Given the description of an element on the screen output the (x, y) to click on. 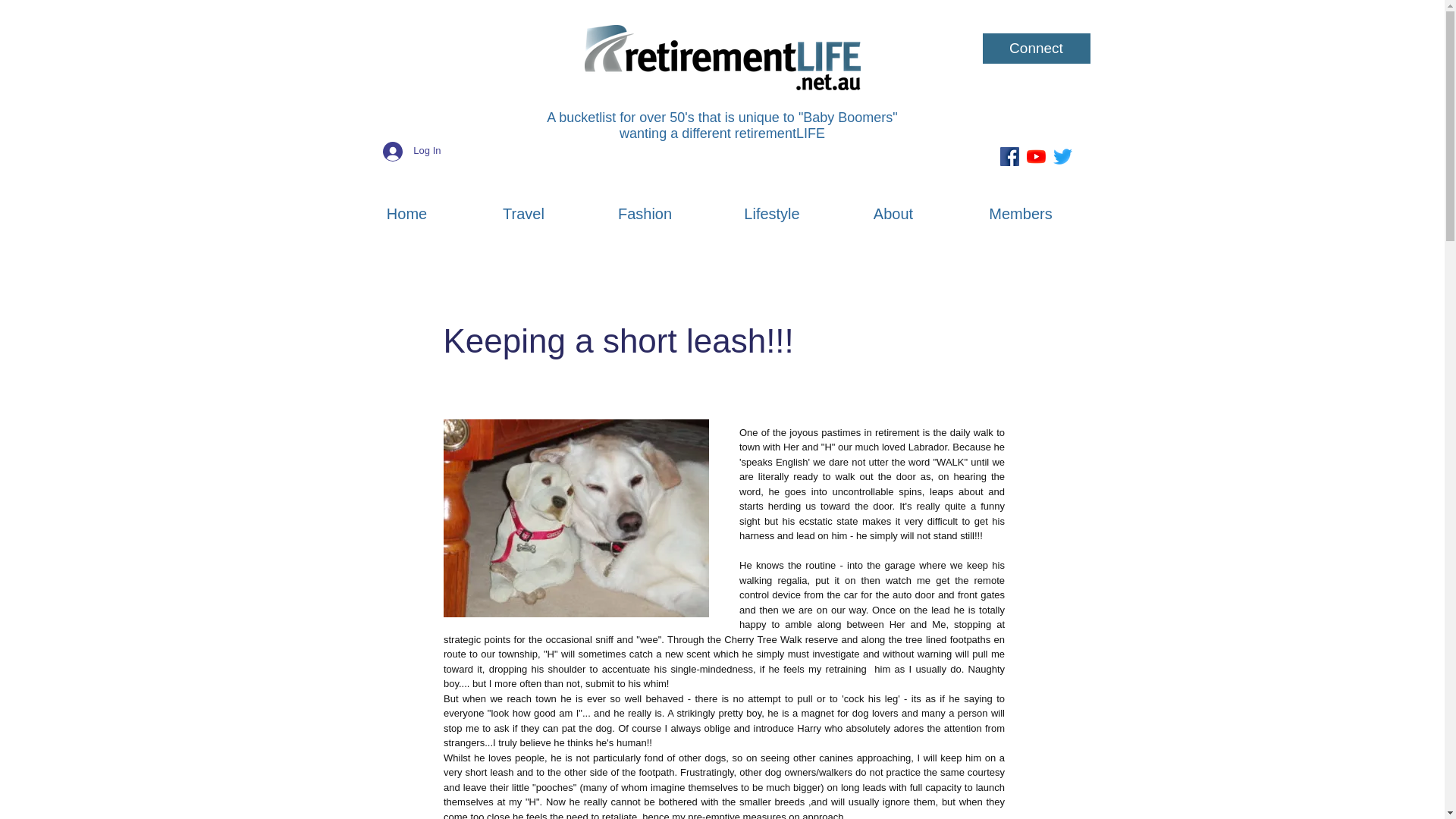
Travel (522, 206)
Log In (411, 150)
Home (406, 206)
Fashion (643, 206)
Members (1019, 206)
About (893, 206)
Connect (1036, 48)
Lifestyle (770, 206)
